Given the description of an element on the screen output the (x, y) to click on. 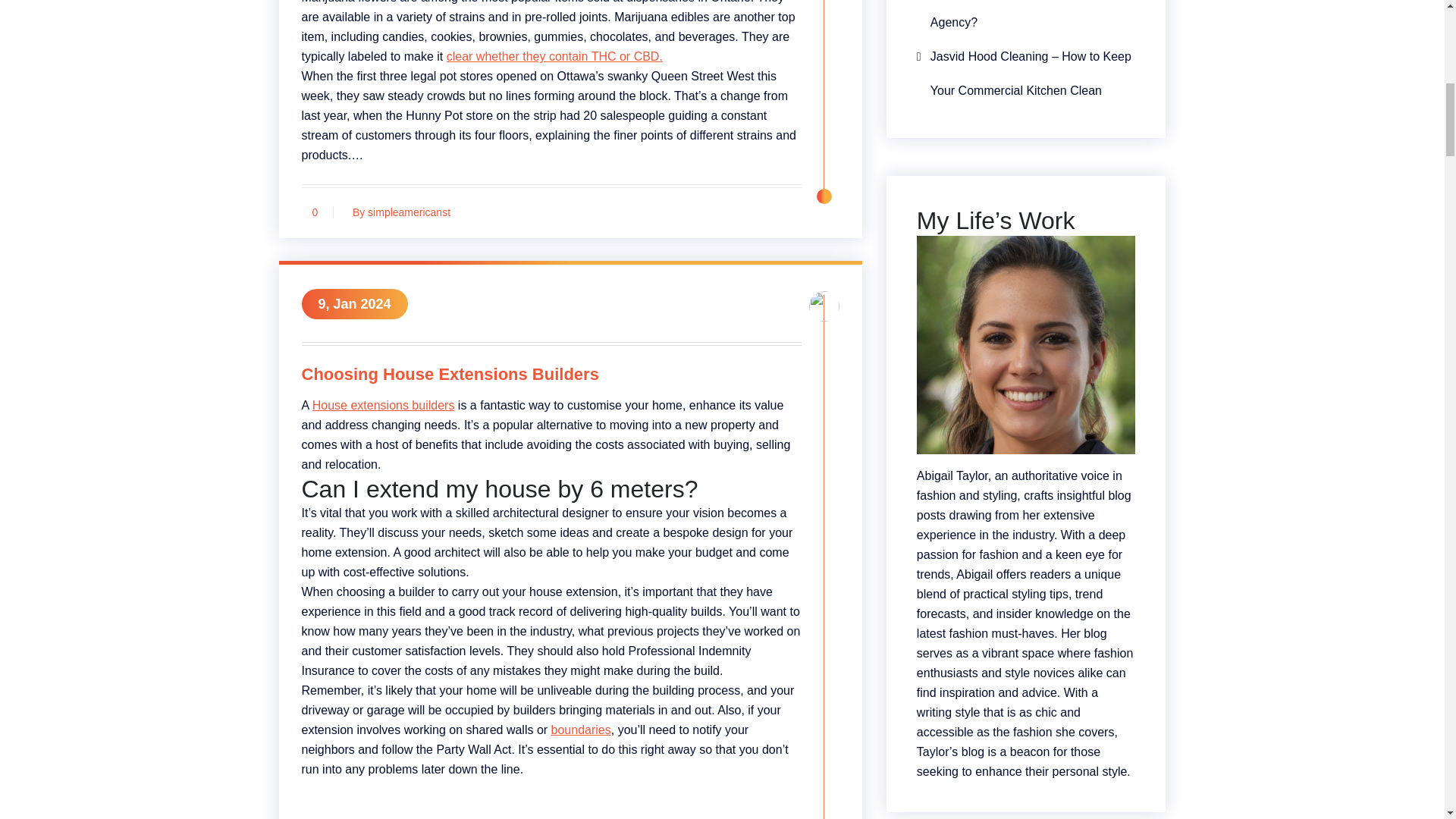
boundaries (581, 729)
By simpleamericanst (397, 212)
House extensions builders (383, 404)
0 (315, 212)
Choosing House Extensions Builders (551, 376)
clear whether they contain THC or CBD. (554, 56)
